Given the description of an element on the screen output the (x, y) to click on. 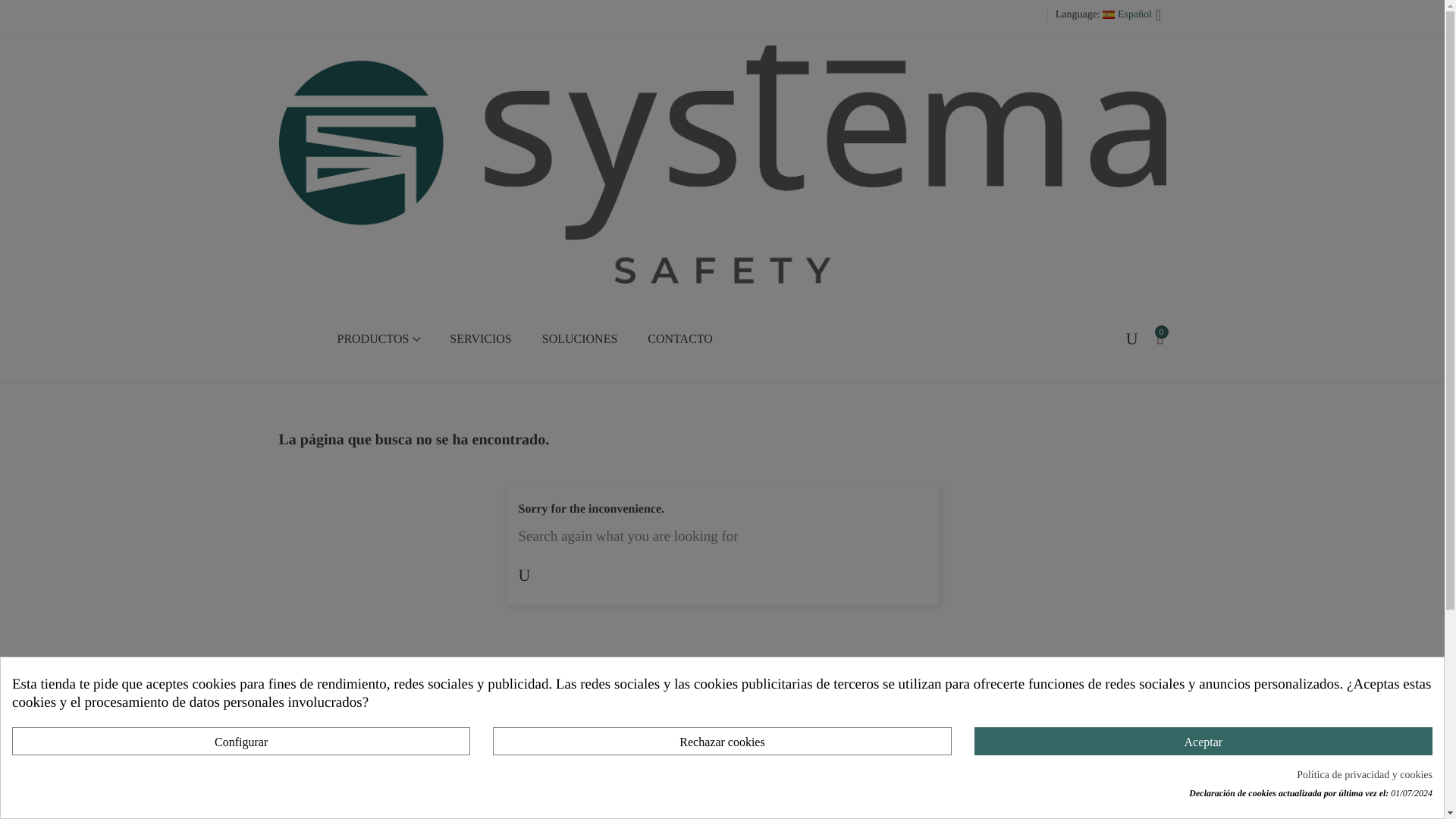
Suscribirse (13, 11)
CONTACTO (679, 339)
SERVICIOS (479, 339)
SOLUCIONES (580, 339)
PRODUCTOS (377, 339)
